Given the description of an element on the screen output the (x, y) to click on. 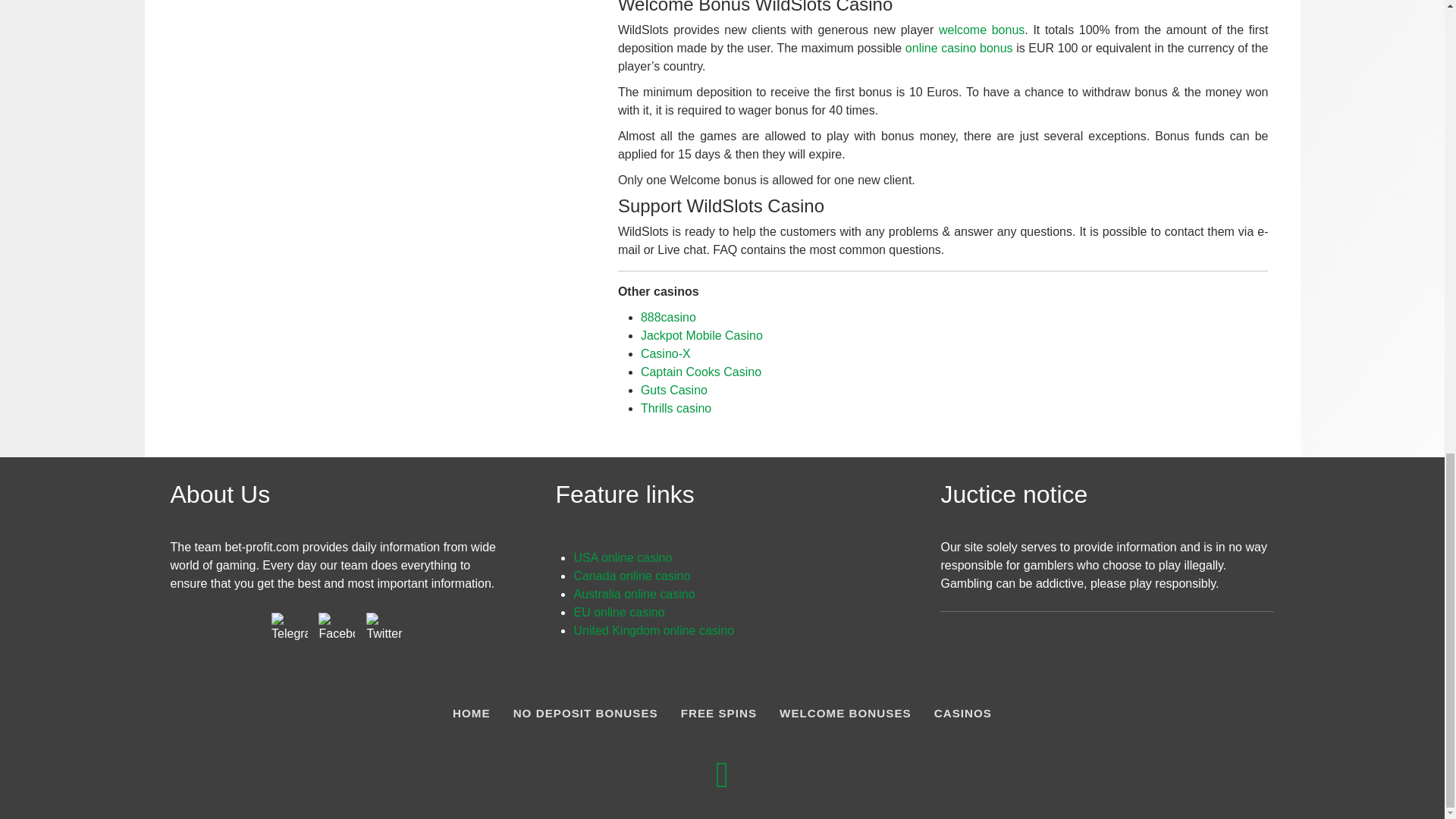
welcome bonus (982, 29)
Casino-X (665, 352)
Jackpot Mobile Casino (701, 334)
888casino (667, 316)
